Given the description of an element on the screen output the (x, y) to click on. 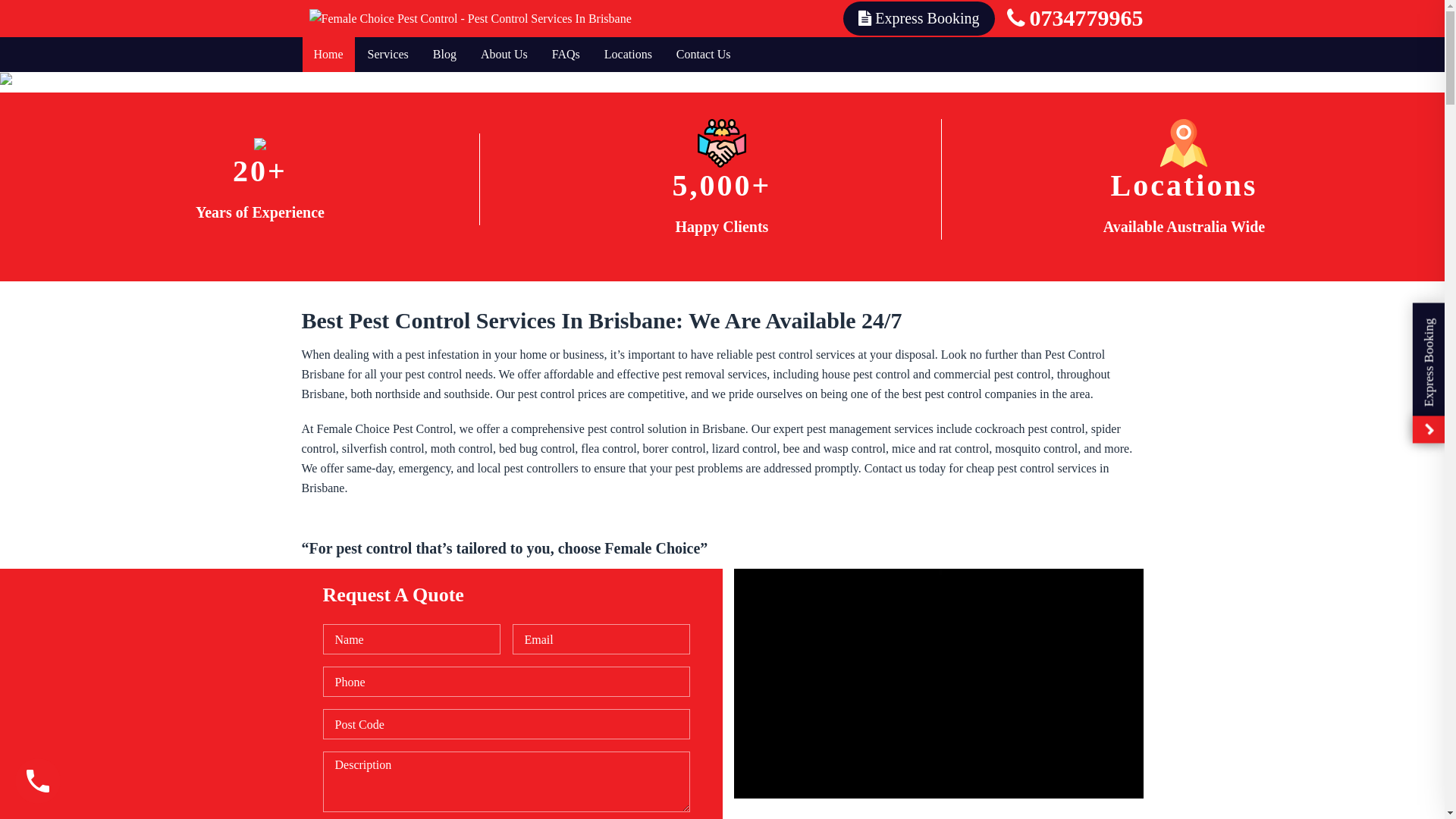
Contact Us Element type: text (703, 54)
Express Booking Element type: text (918, 18)
About Us Element type: text (504, 54)
Services Element type: text (388, 54)
Home Element type: text (327, 54)
Locations Element type: text (628, 54)
FAQs Element type: text (565, 54)
0734779965 Element type: text (1075, 18)
Blog Element type: text (444, 54)
